Given the description of an element on the screen output the (x, y) to click on. 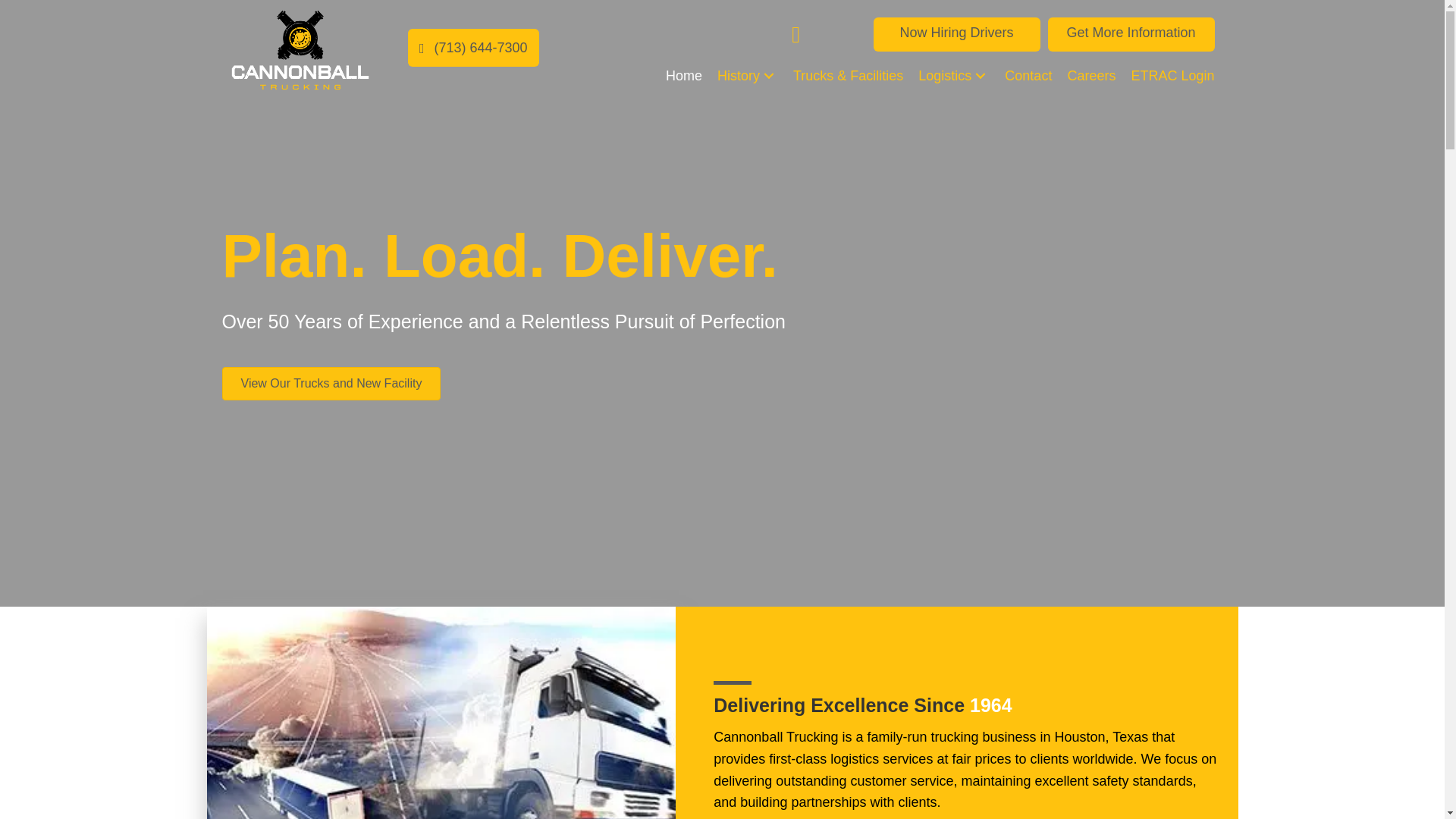
Careers (1090, 76)
service01-p7ckaro7ord7nldgq1brdqvlnzte6vashbswvv16k0 (440, 712)
Contact (1028, 76)
Home (684, 76)
Now Hiring Drivers (957, 34)
Get More Information (1131, 34)
Logistics (954, 76)
New Logo (299, 50)
History (748, 76)
ETRAC Login (1171, 76)
